Given the description of an element on the screen output the (x, y) to click on. 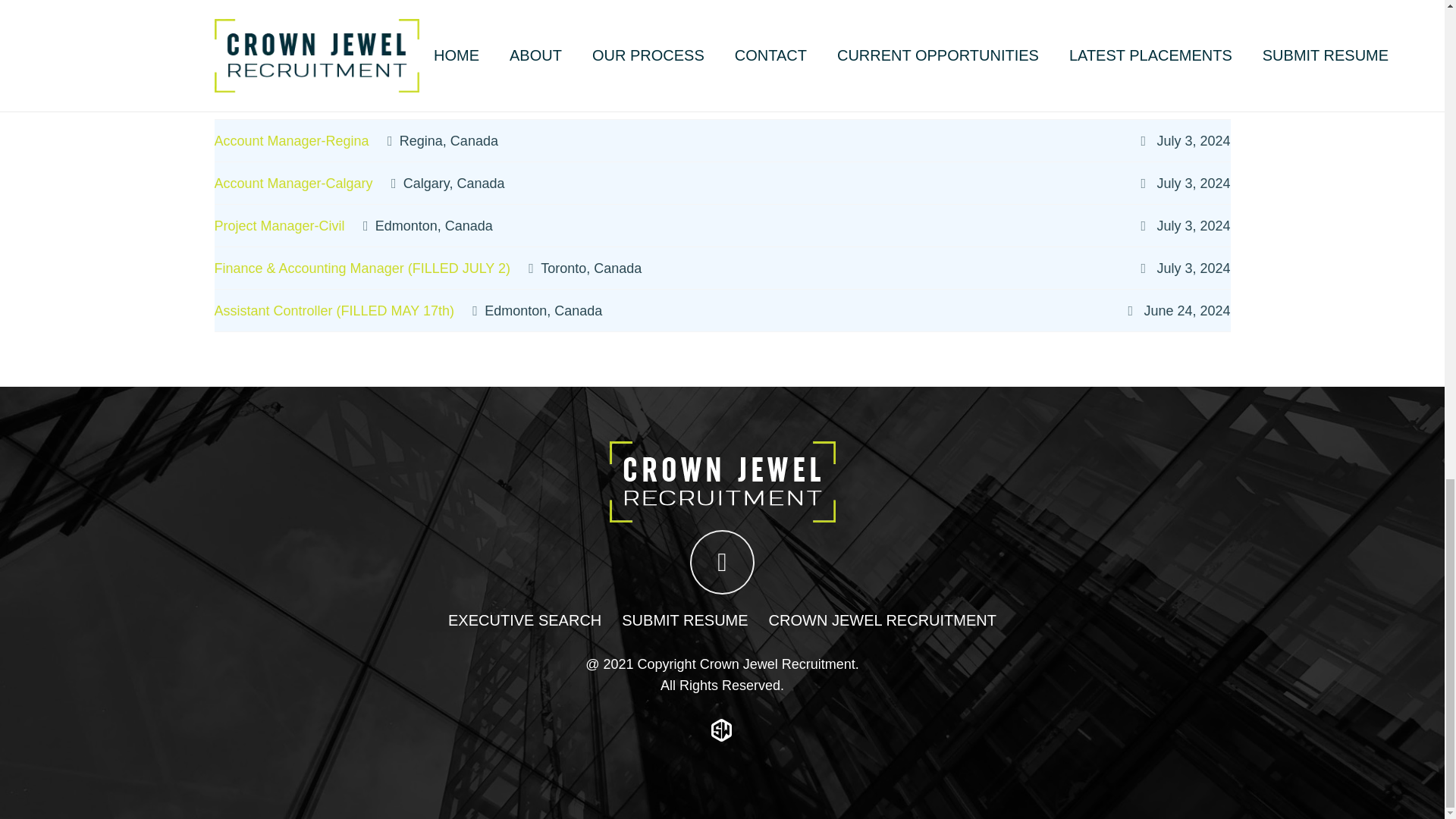
EXECUTIVE SEARCH (524, 619)
Apply Online   (264, 34)
Project Manager-Civil (278, 224)
LinkedIn (722, 561)
Account Manager-Calgary (293, 182)
Account Manager-Regina (291, 140)
CROWN JEWEL RECRUITMENT (881, 619)
SiteWebster (722, 730)
SUBMIT RESUME (684, 619)
